Given the description of an element on the screen output the (x, y) to click on. 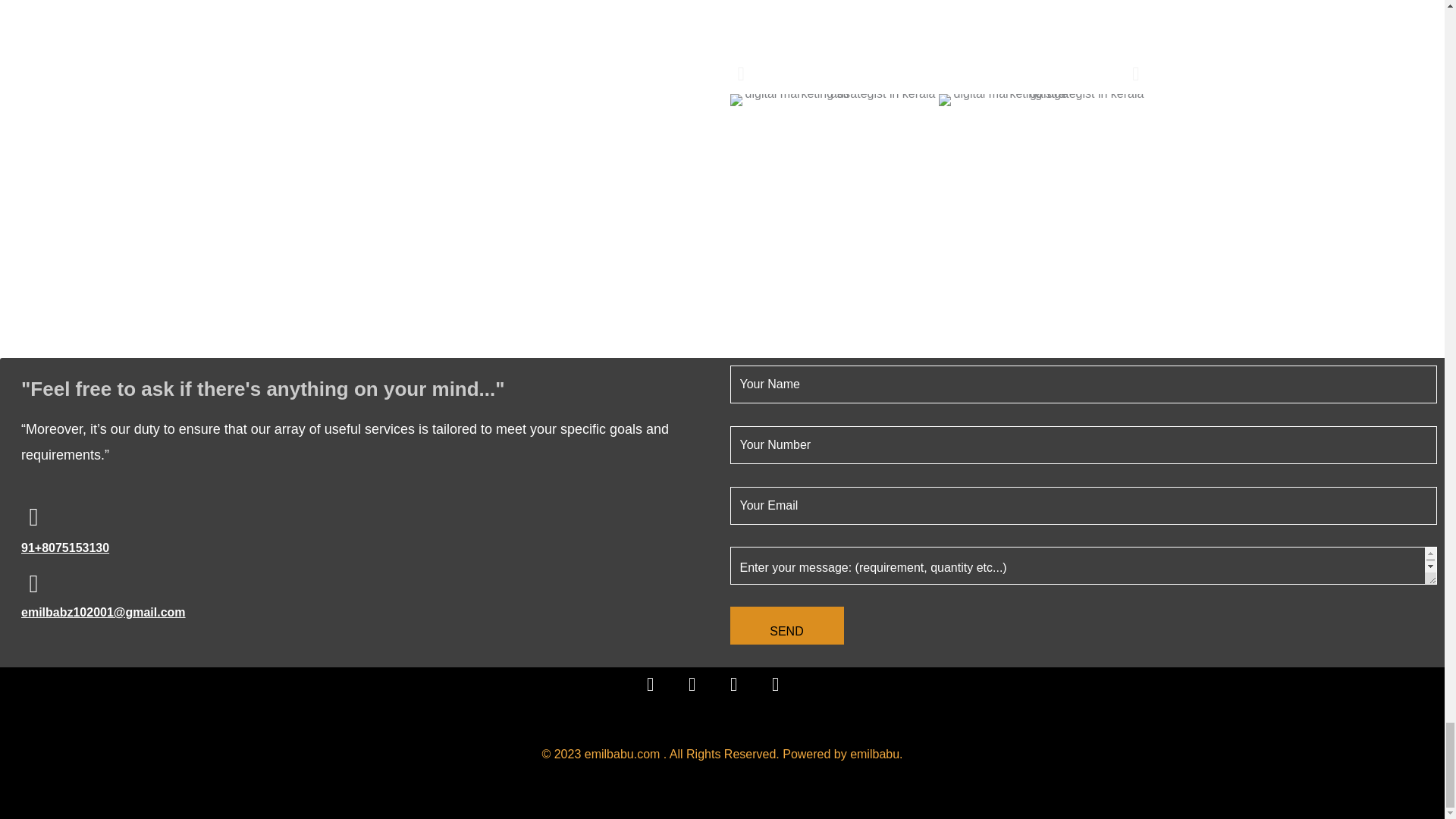
Instagram (701, 693)
Telegram (742, 693)
Linkedin (784, 693)
SEND (786, 625)
Whatsapp (659, 693)
SEND (786, 625)
